Given the description of an element on the screen output the (x, y) to click on. 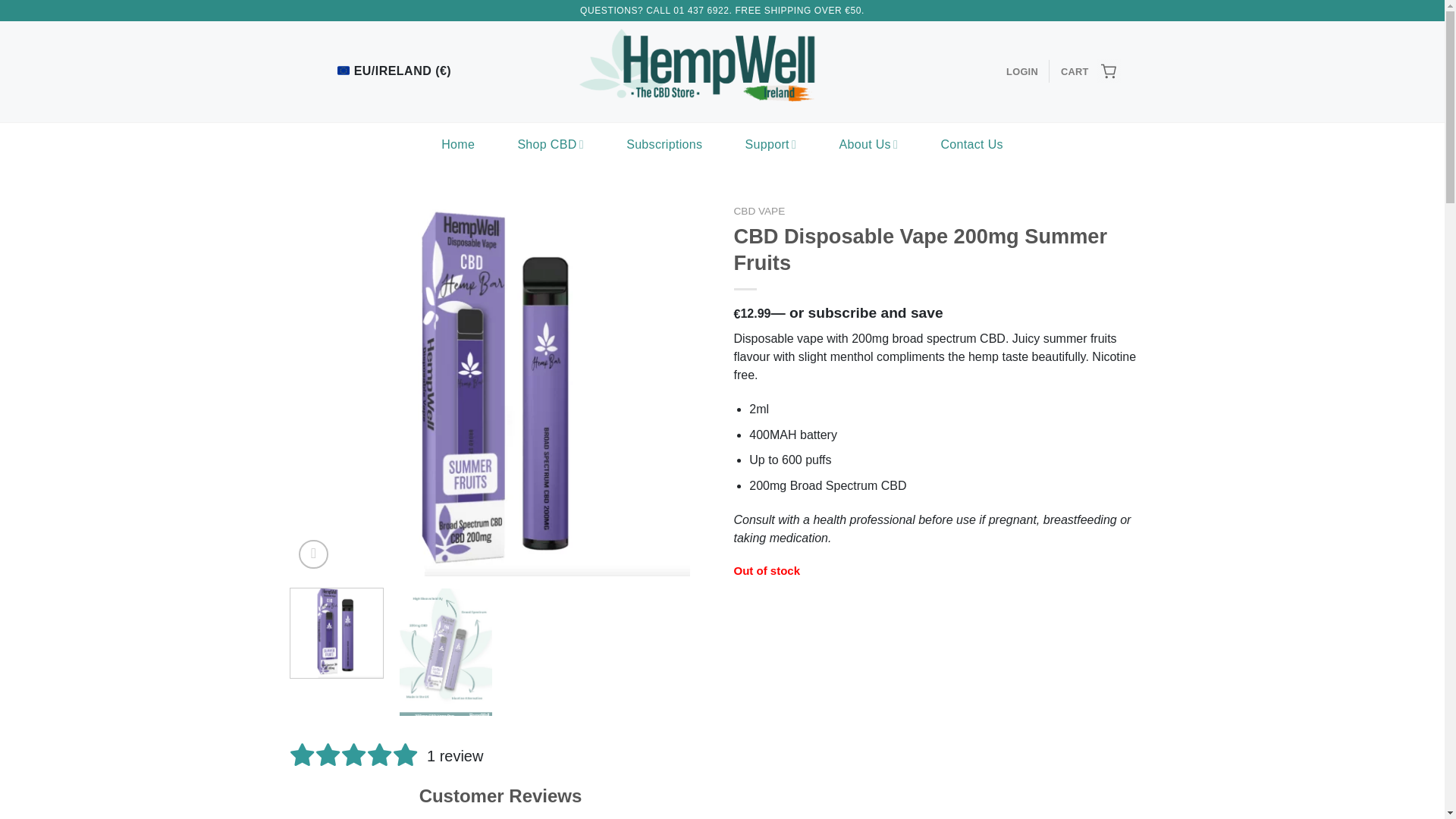
Shop CBD (549, 144)
About Us (868, 144)
CART (1091, 70)
LOGIN (1022, 71)
Zoom (313, 554)
Cart (1091, 70)
Subscriptions (663, 144)
Support (770, 144)
